Given the description of an element on the screen output the (x, y) to click on. 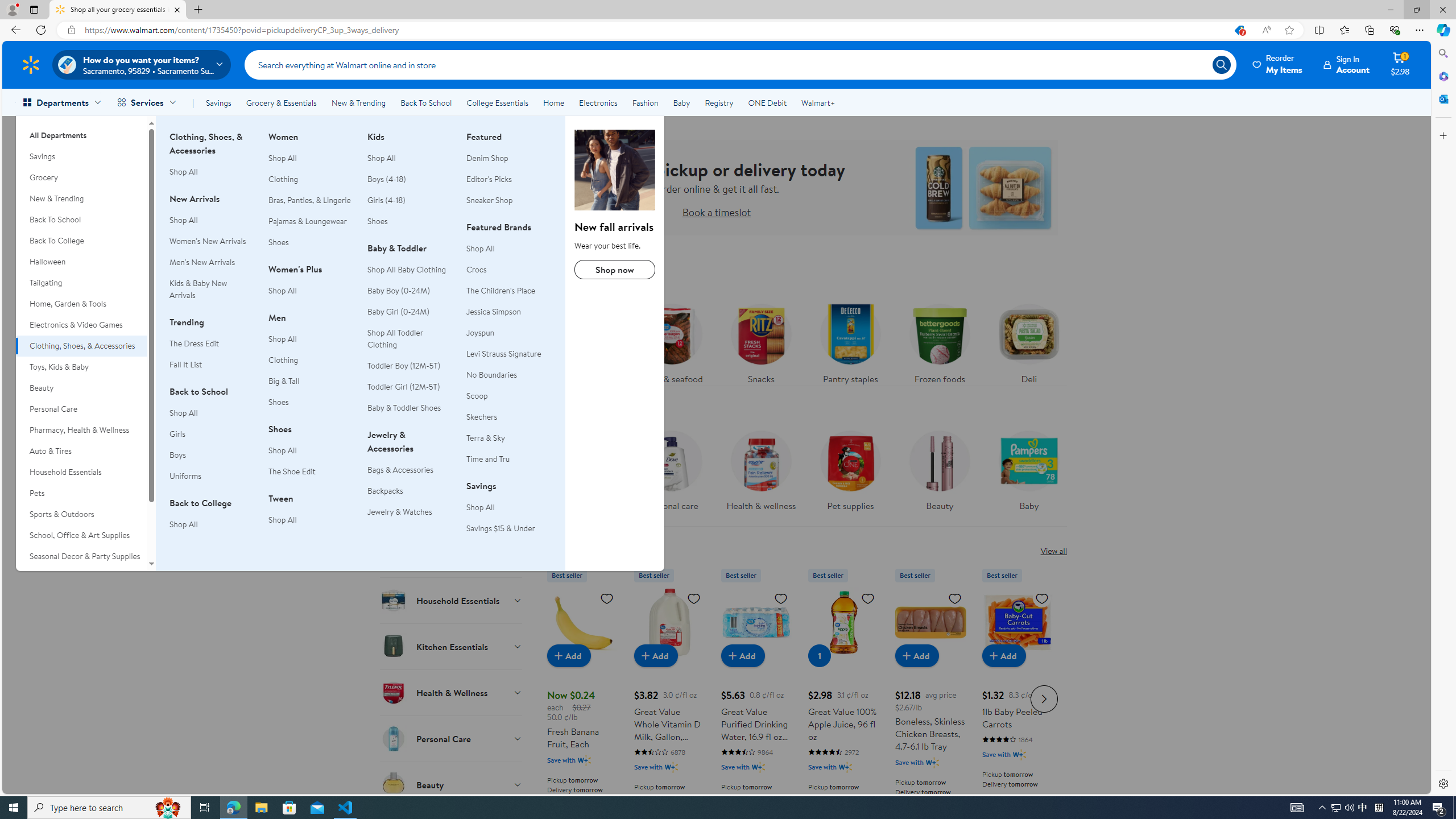
Girls (211, 434)
Search icon (1220, 64)
Bags & Accessories (409, 469)
Toddler Girl (12M-5T) (409, 386)
Levi Strauss Signature (503, 353)
Baby Boy (0-24M) (397, 290)
Shop all your grocery essentials in one place! - Walmart.com (117, 9)
Joyspun (480, 332)
Meat & seafood (671, 340)
ONE Debit (767, 102)
Grab & Go (451, 554)
